Given the description of an element on the screen output the (x, y) to click on. 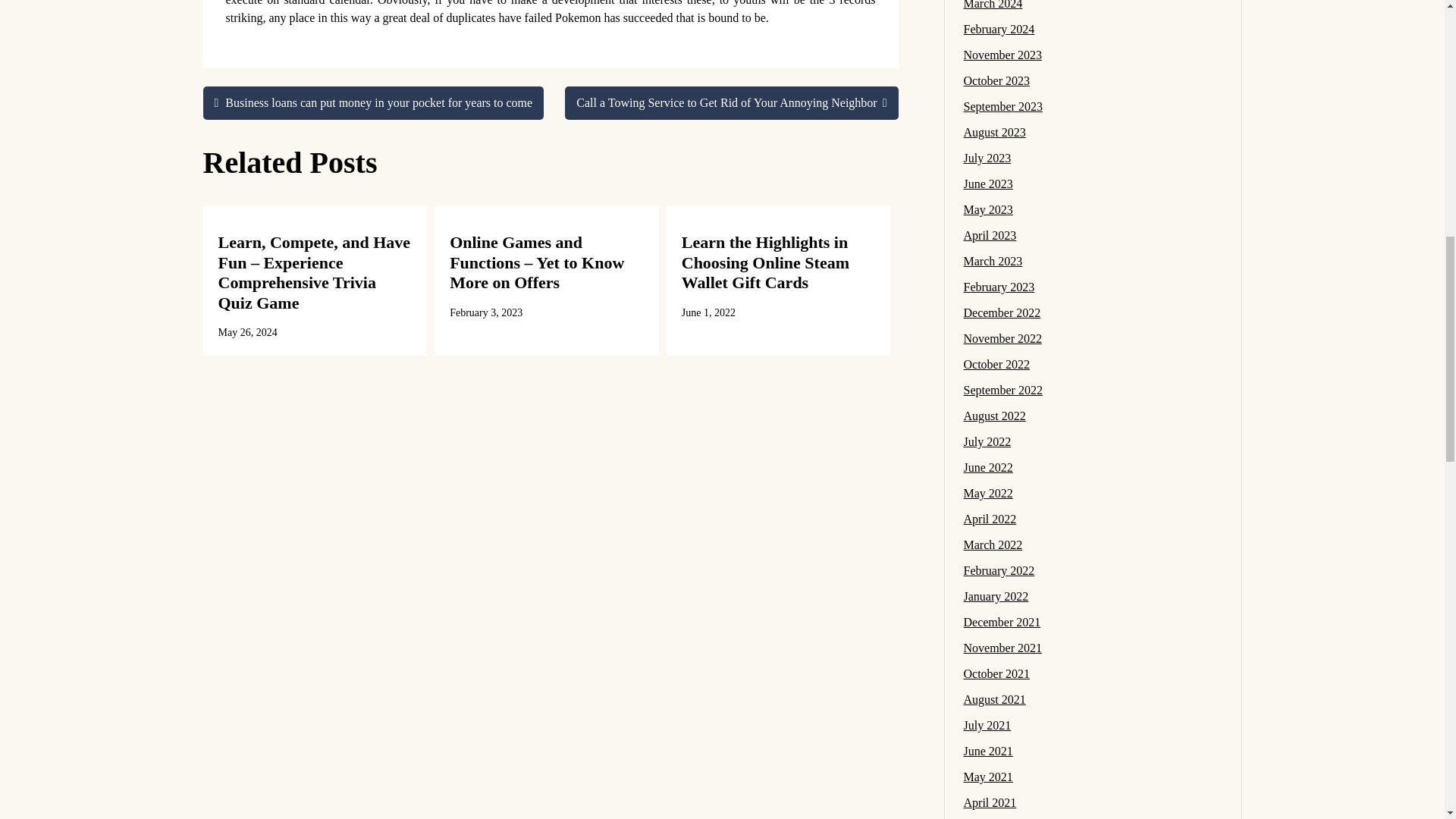
March 2024 (992, 4)
June 1, 2022 (708, 312)
February 3, 2023 (485, 312)
November 2023 (1002, 54)
Call a Towing Service to Get Rid of Your Annoying Neighbor (731, 102)
May 26, 2024 (248, 332)
February 2024 (997, 29)
October 2023 (995, 80)
